Given the description of an element on the screen output the (x, y) to click on. 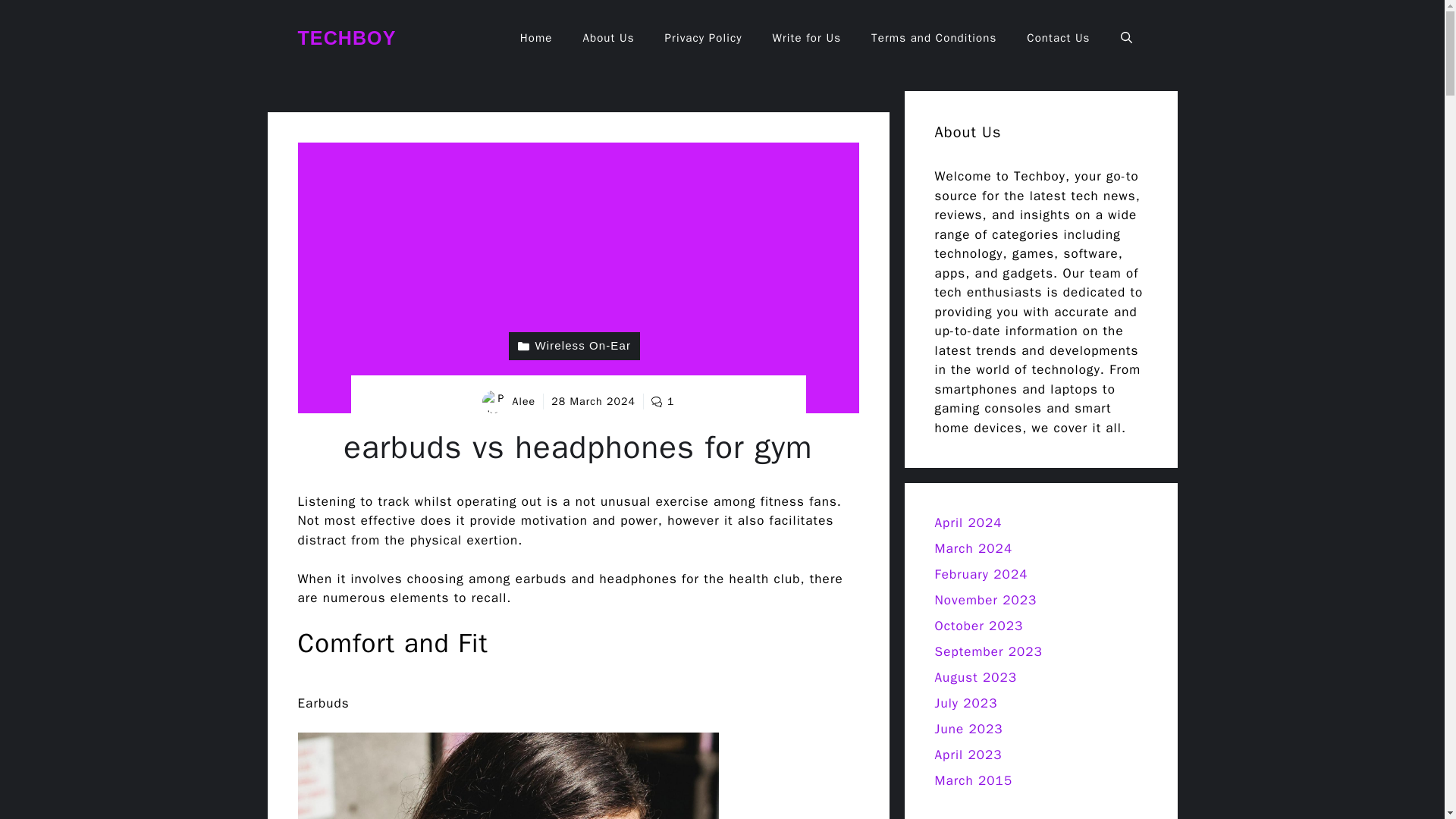
Privacy Policy (703, 37)
Home (536, 37)
Terms and Conditions (933, 37)
Write for Us (807, 37)
Contact Us (1058, 37)
October 2023 (978, 625)
About Us (608, 37)
February 2024 (980, 574)
November 2023 (985, 600)
Alee (523, 400)
March 2024 (972, 548)
TECHBOY (346, 37)
Wireless On-Ear (574, 346)
April 2024 (967, 522)
